Given the description of an element on the screen output the (x, y) to click on. 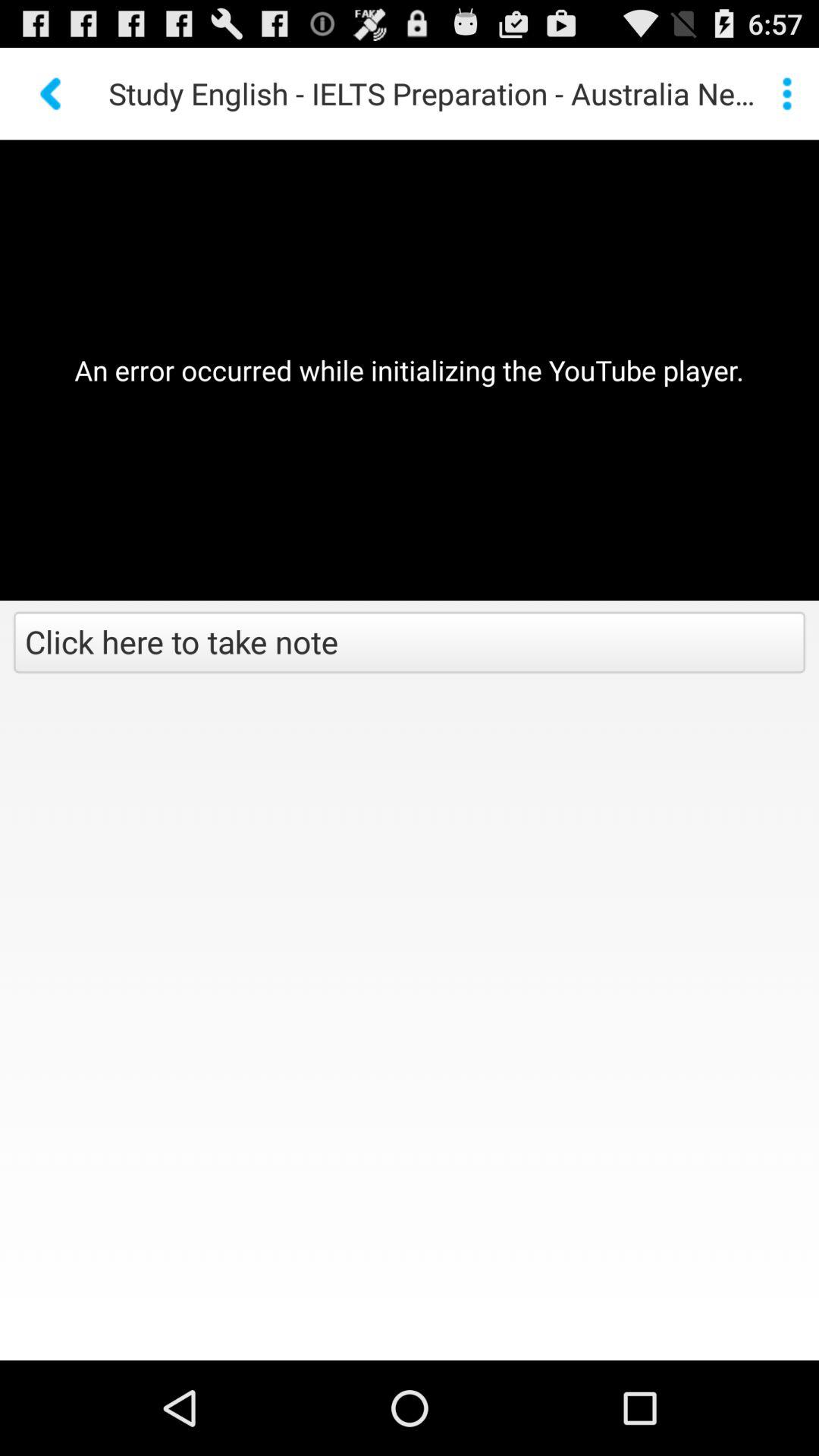
press the icon above the an error occurred app (52, 93)
